Given the description of an element on the screen output the (x, y) to click on. 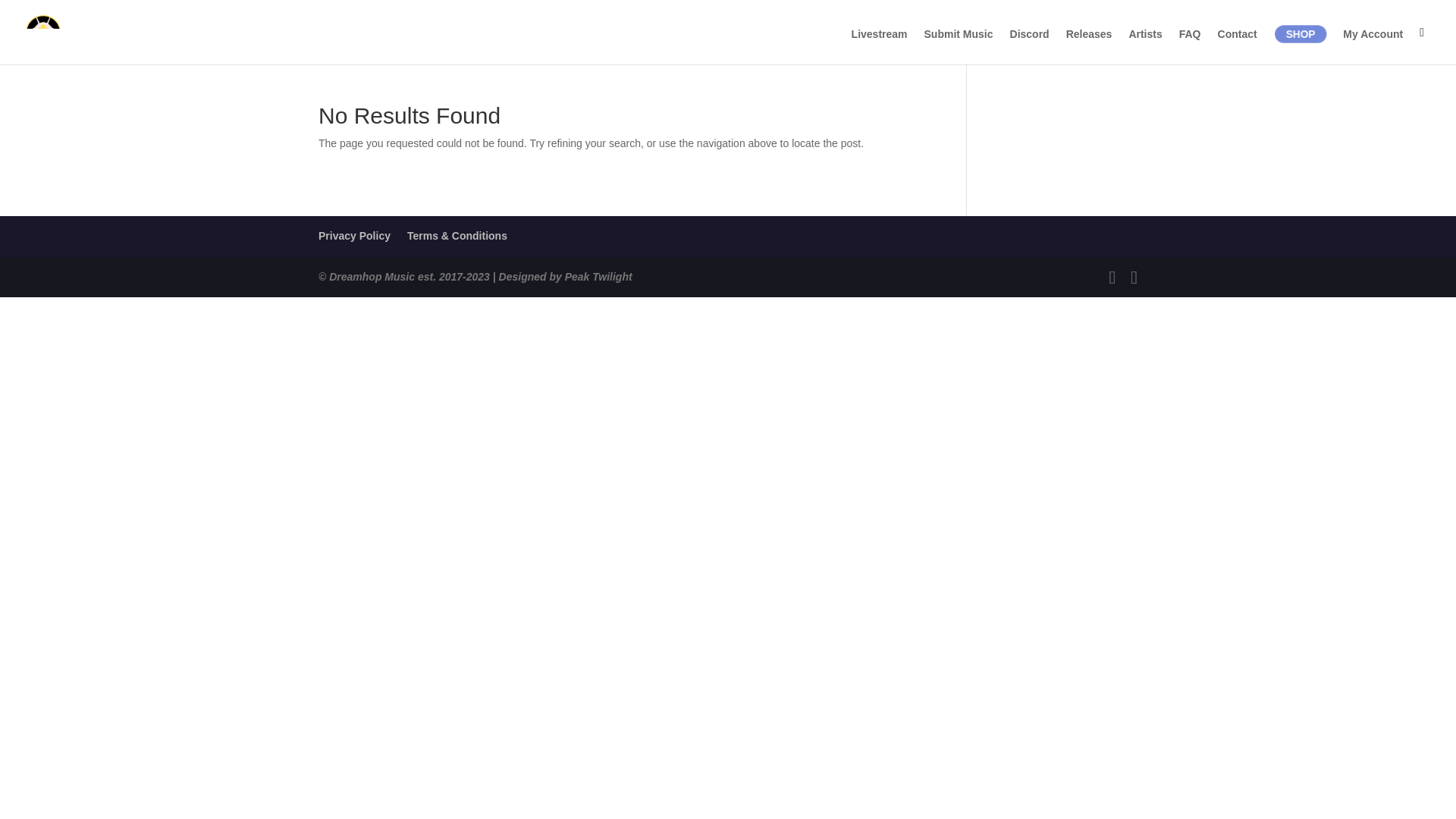
FAQ (1190, 46)
Privacy Policy (354, 235)
Artists (1144, 46)
Contact (1237, 46)
SHOP (1302, 34)
Livestream (879, 46)
Discord (1029, 46)
Releases (1088, 46)
My Account (1372, 46)
Submit Music (958, 46)
